Given the description of an element on the screen output the (x, y) to click on. 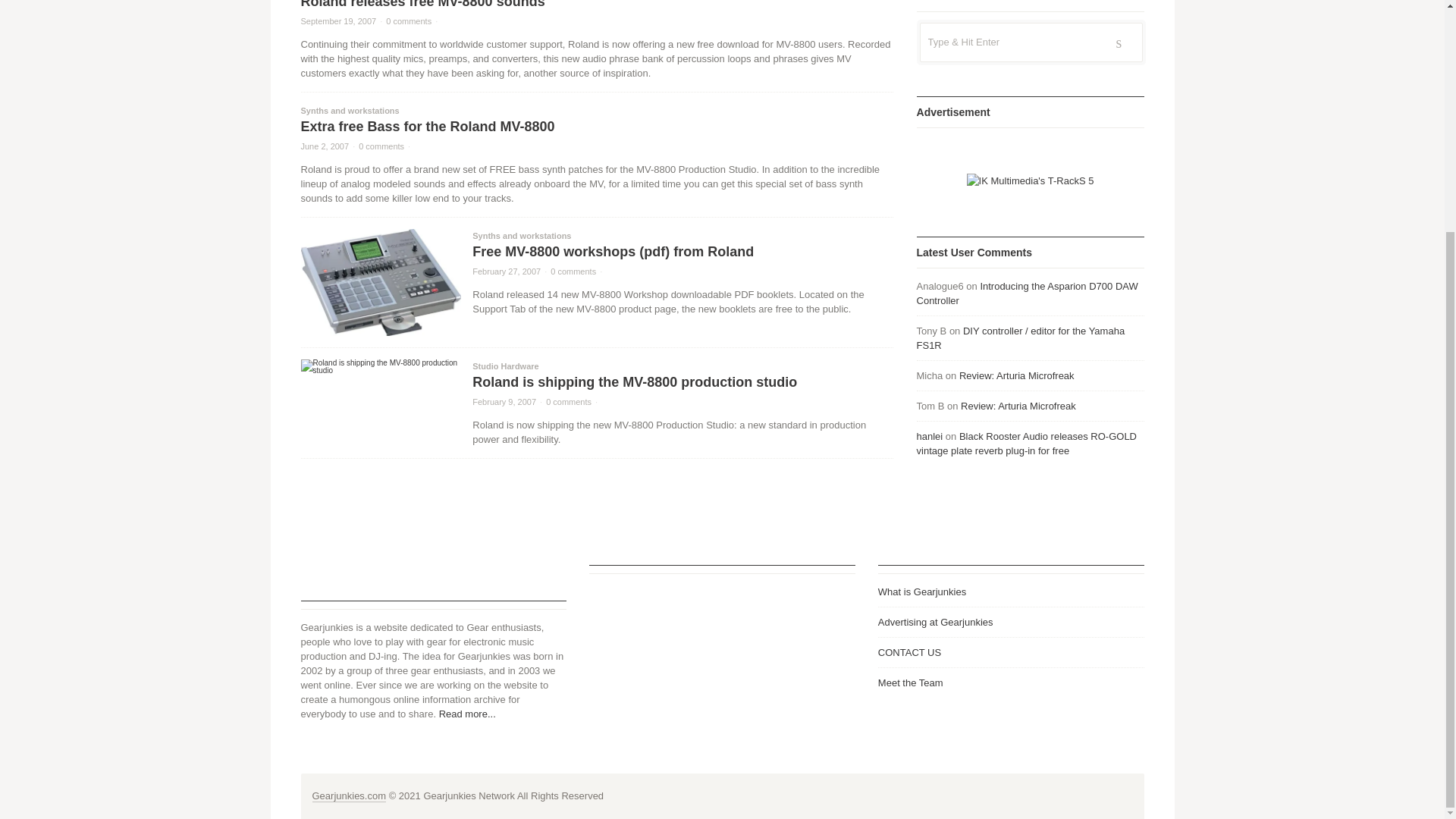
Permalink to Roland releases free MV-8800 sounds (337, 20)
Roland releases free MV-8800 sounds (421, 4)
Synths and workstations (348, 110)
Extra free Bass for the Roland MV-8800 (426, 126)
0 comments (572, 271)
0 comments (568, 401)
Roland is shipping the MV-8800 production studio (633, 381)
Synths and workstations (520, 235)
Permalink to Extra free Bass for the Roland MV-8800 (324, 145)
